Given the description of an element on the screen output the (x, y) to click on. 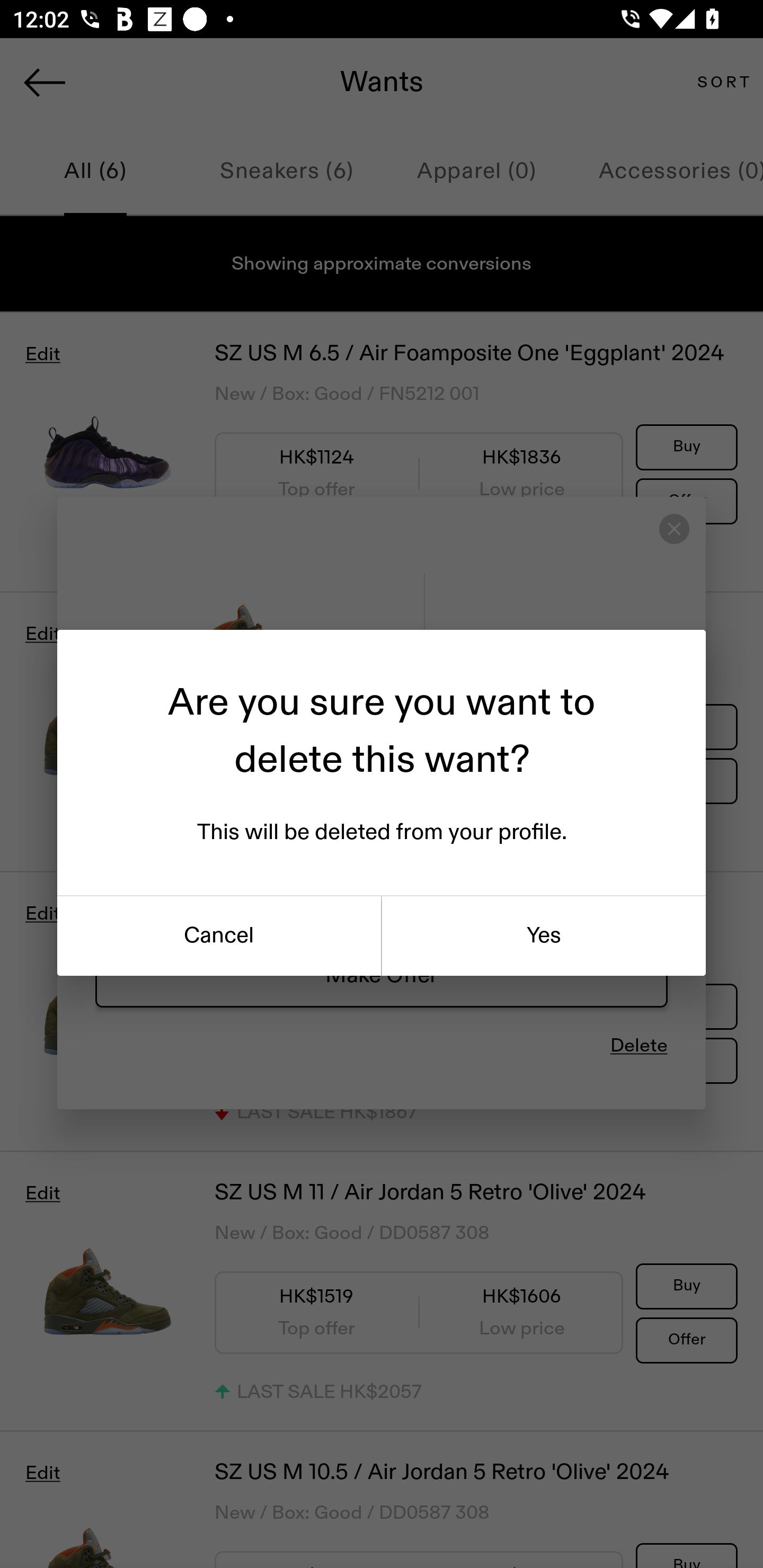
Cancel (218, 935)
Yes (543, 935)
